Given the description of an element on the screen output the (x, y) to click on. 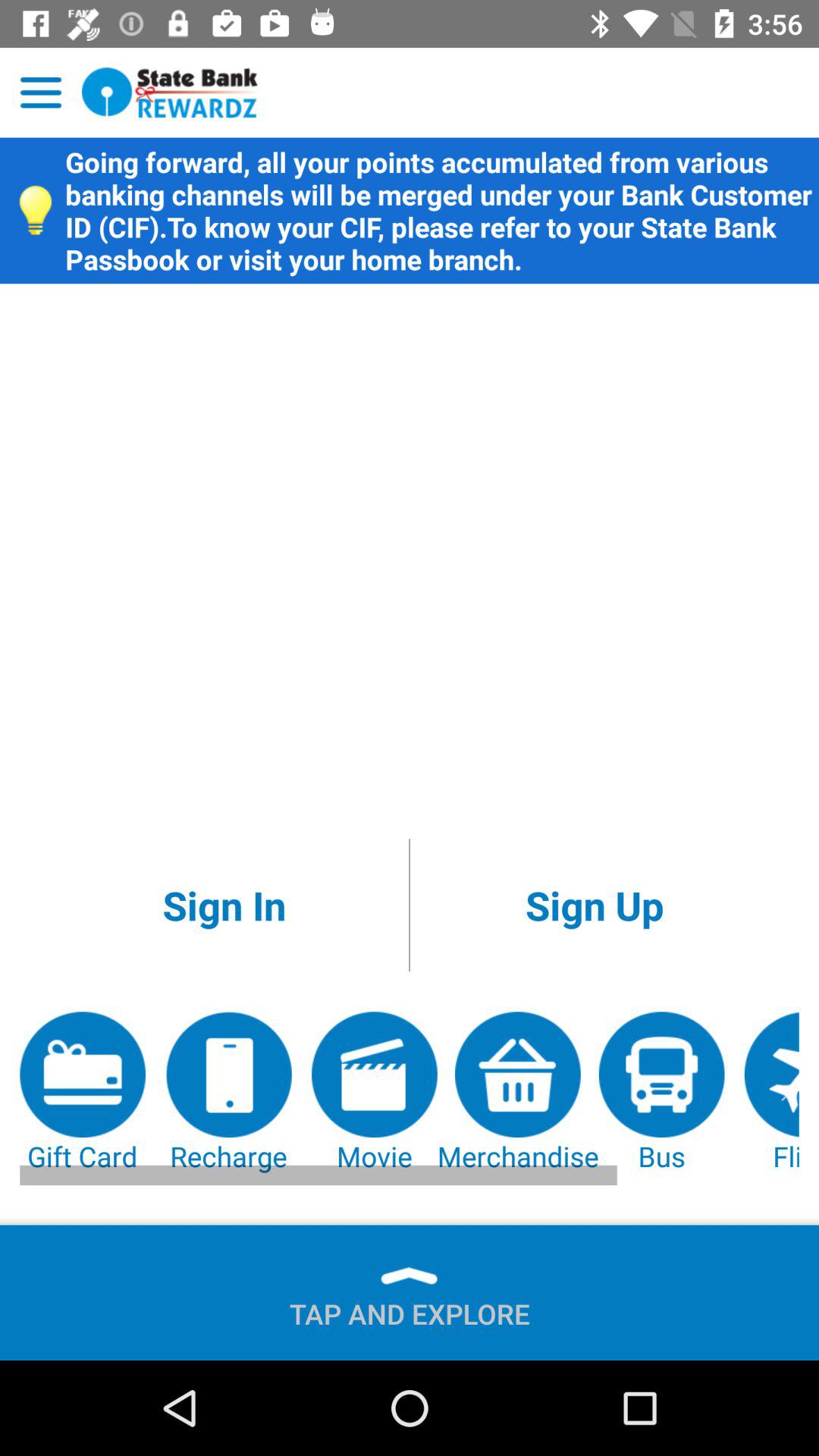
launch the button above the tap and explore item (661, 1093)
